Given the description of an element on the screen output the (x, y) to click on. 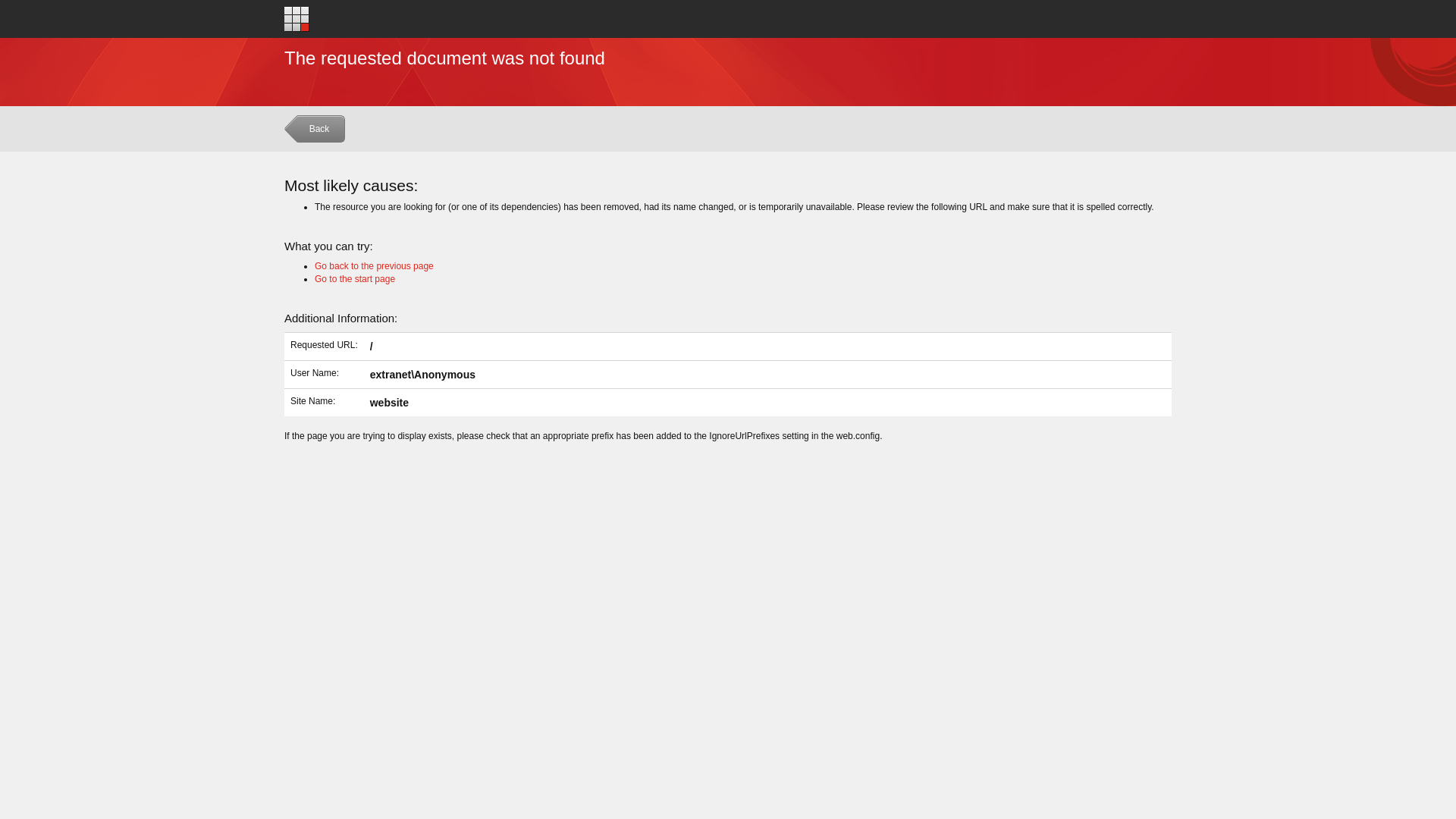
Go to the start page Element type: hover (296, 18)
Go back to the previous page Element type: text (373, 265)
Go to the start page Element type: text (354, 278)
Back Element type: text (316, 131)
